Given the description of an element on the screen output the (x, y) to click on. 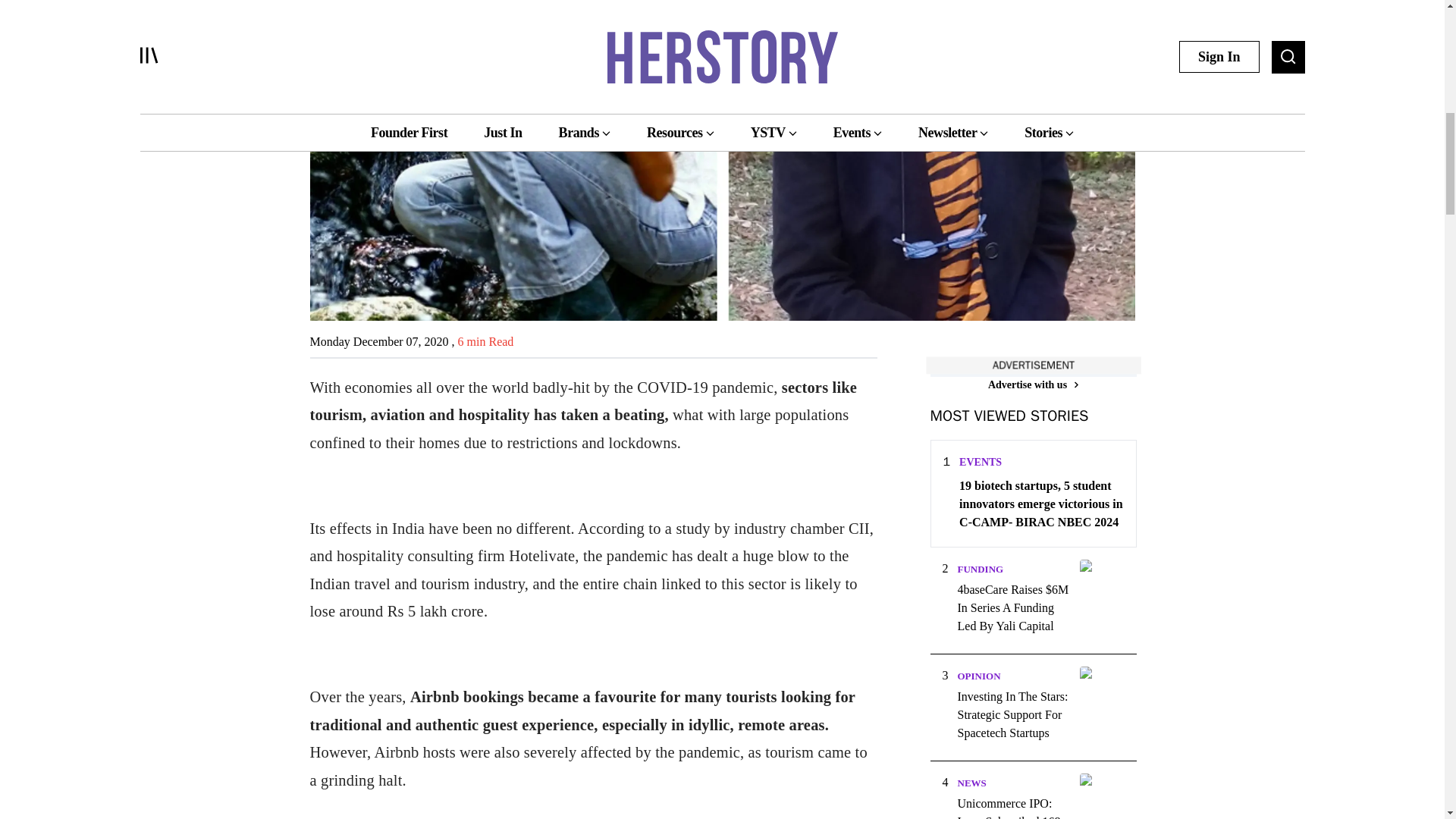
FUNDING (979, 568)
EVENTS (980, 461)
NEWS (970, 782)
OPINION (978, 675)
Advertise with us (1032, 384)
